Given the description of an element on the screen output the (x, y) to click on. 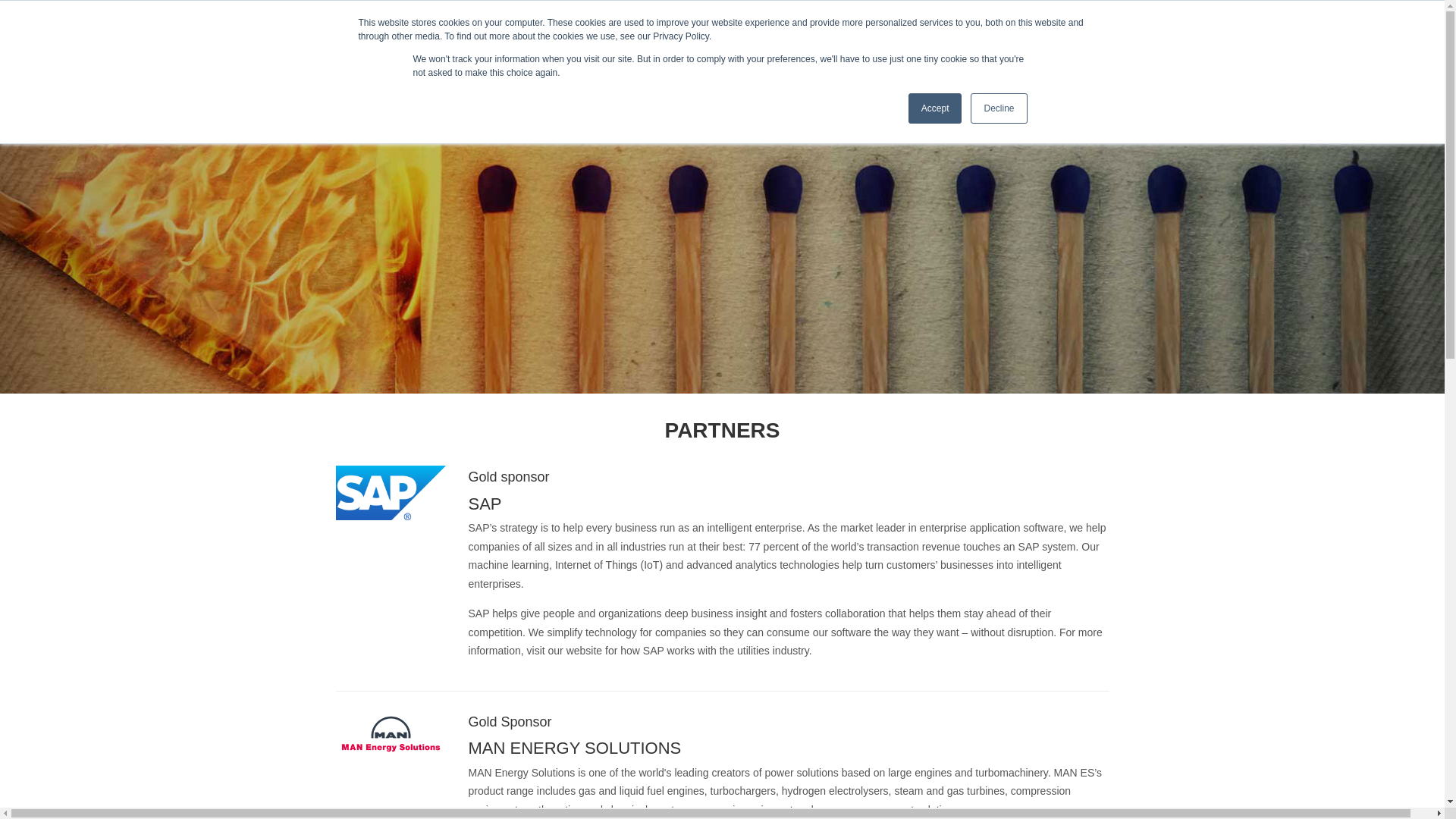
PARTNERS (969, 99)
SPONSOR (1042, 99)
Decline (998, 108)
Home (147, 71)
SPEAKERS (901, 99)
ATTEND (1115, 99)
Accept (935, 108)
HOME (771, 99)
AGENDA (830, 99)
